Given the description of an element on the screen output the (x, y) to click on. 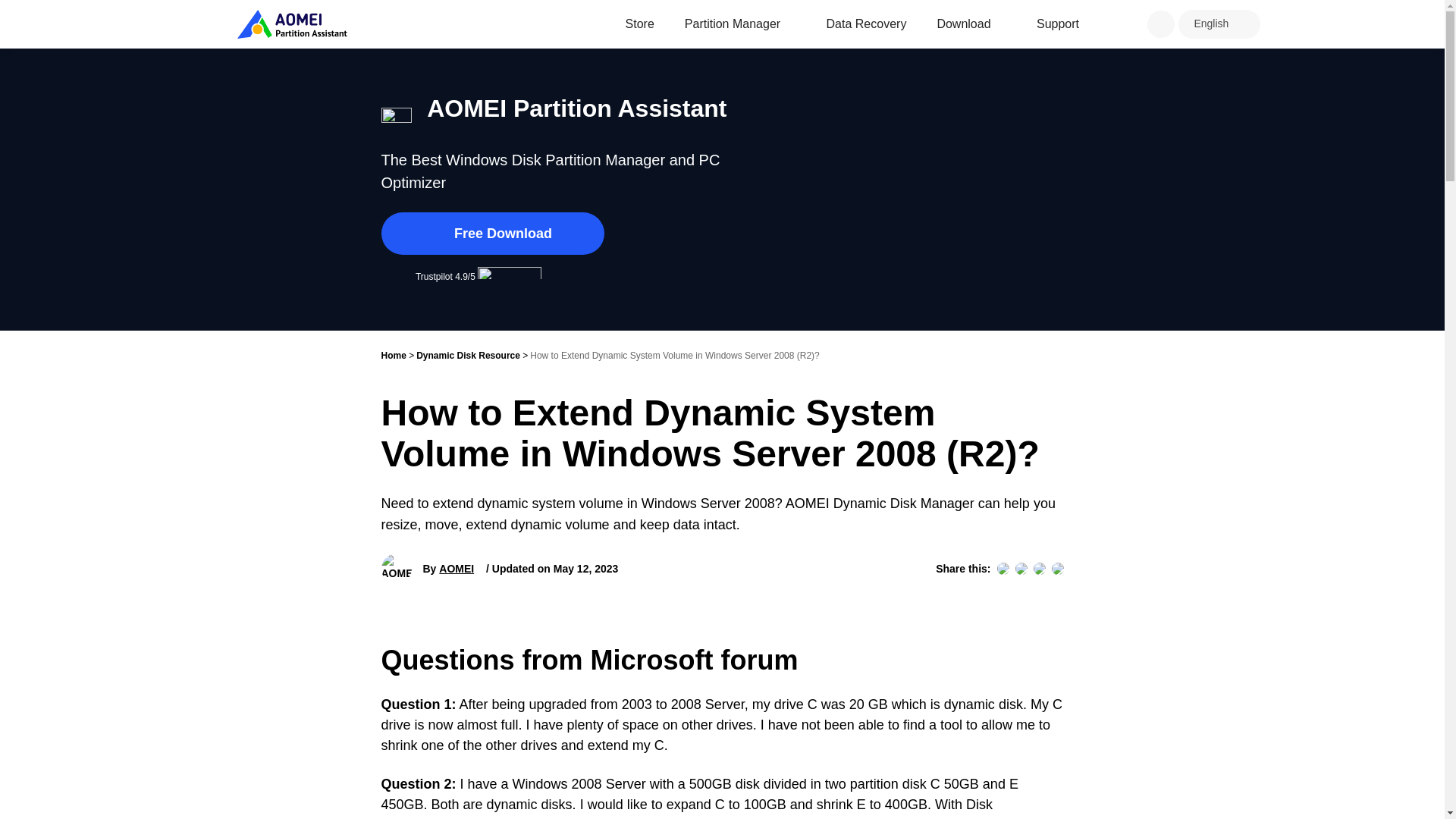
English (1210, 23)
Partition Manager (732, 23)
AOMEI (456, 569)
Download (963, 23)
Store (639, 23)
Search (1160, 23)
Home (393, 355)
Dynamic Disk Resource (467, 355)
Free Download (492, 233)
Data Recovery (867, 23)
Support (1057, 23)
